Given the description of an element on the screen output the (x, y) to click on. 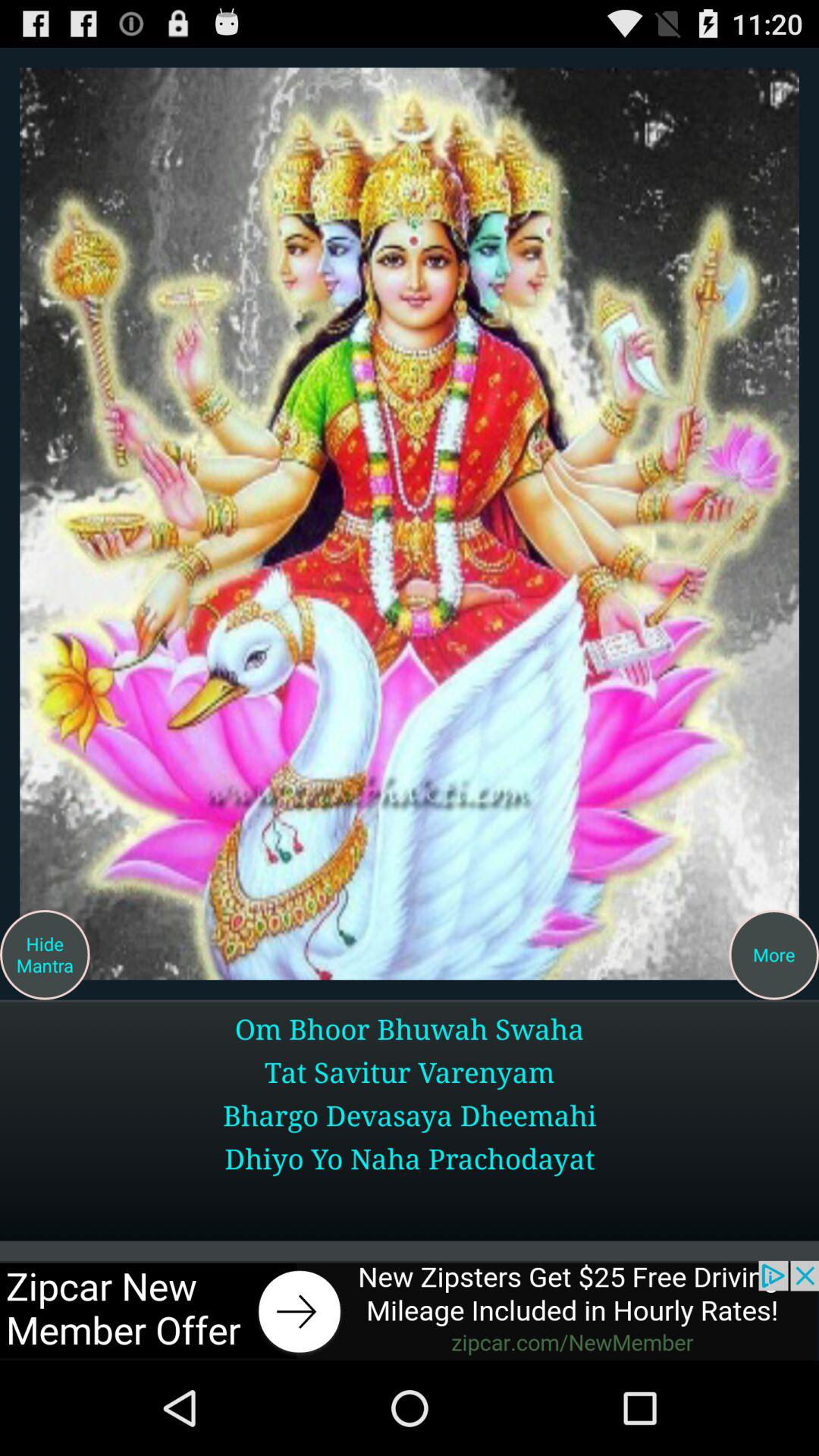
advertisement (409, 523)
